Given the description of an element on the screen output the (x, y) to click on. 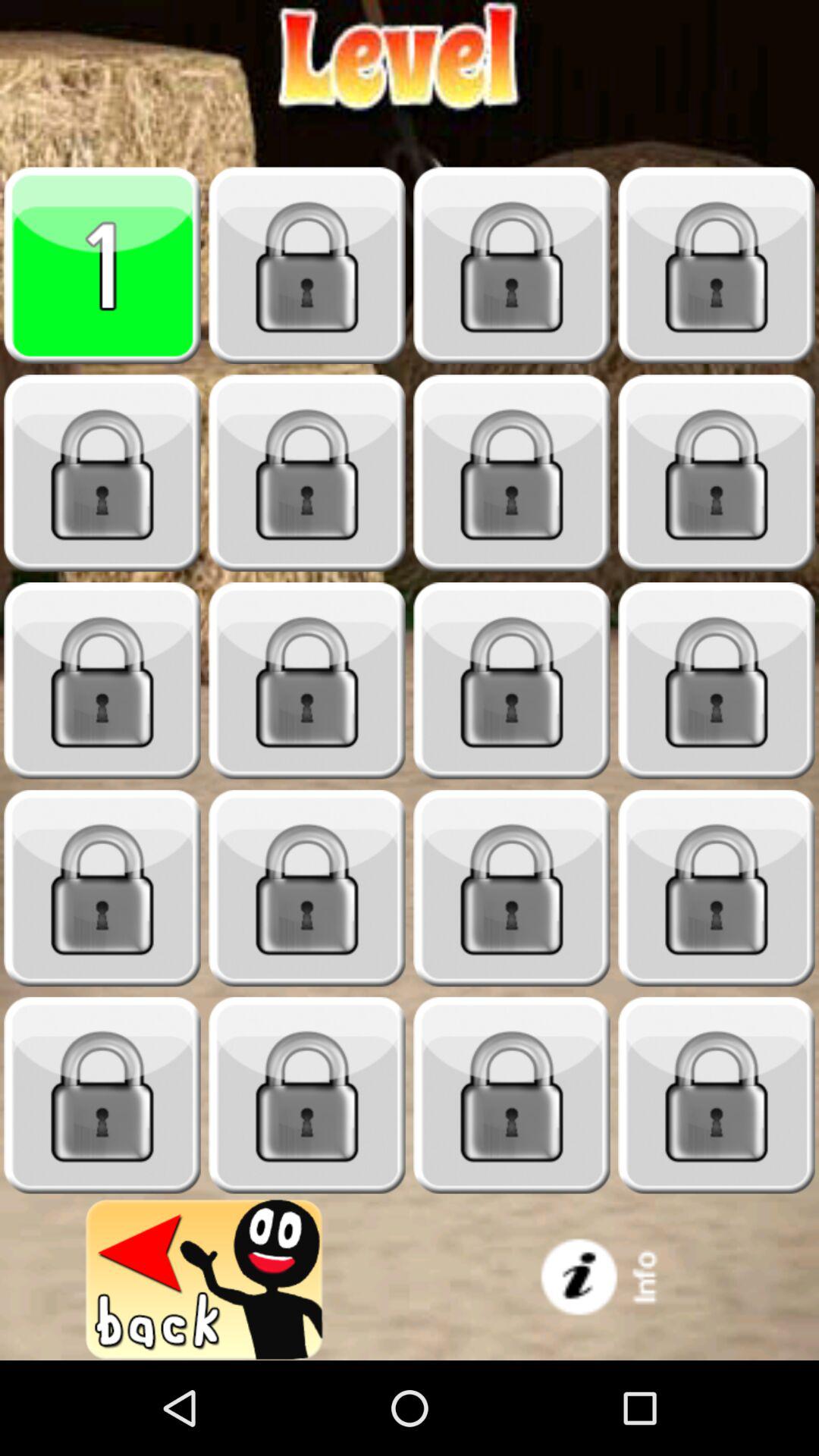
select level (716, 680)
